Given the description of an element on the screen output the (x, y) to click on. 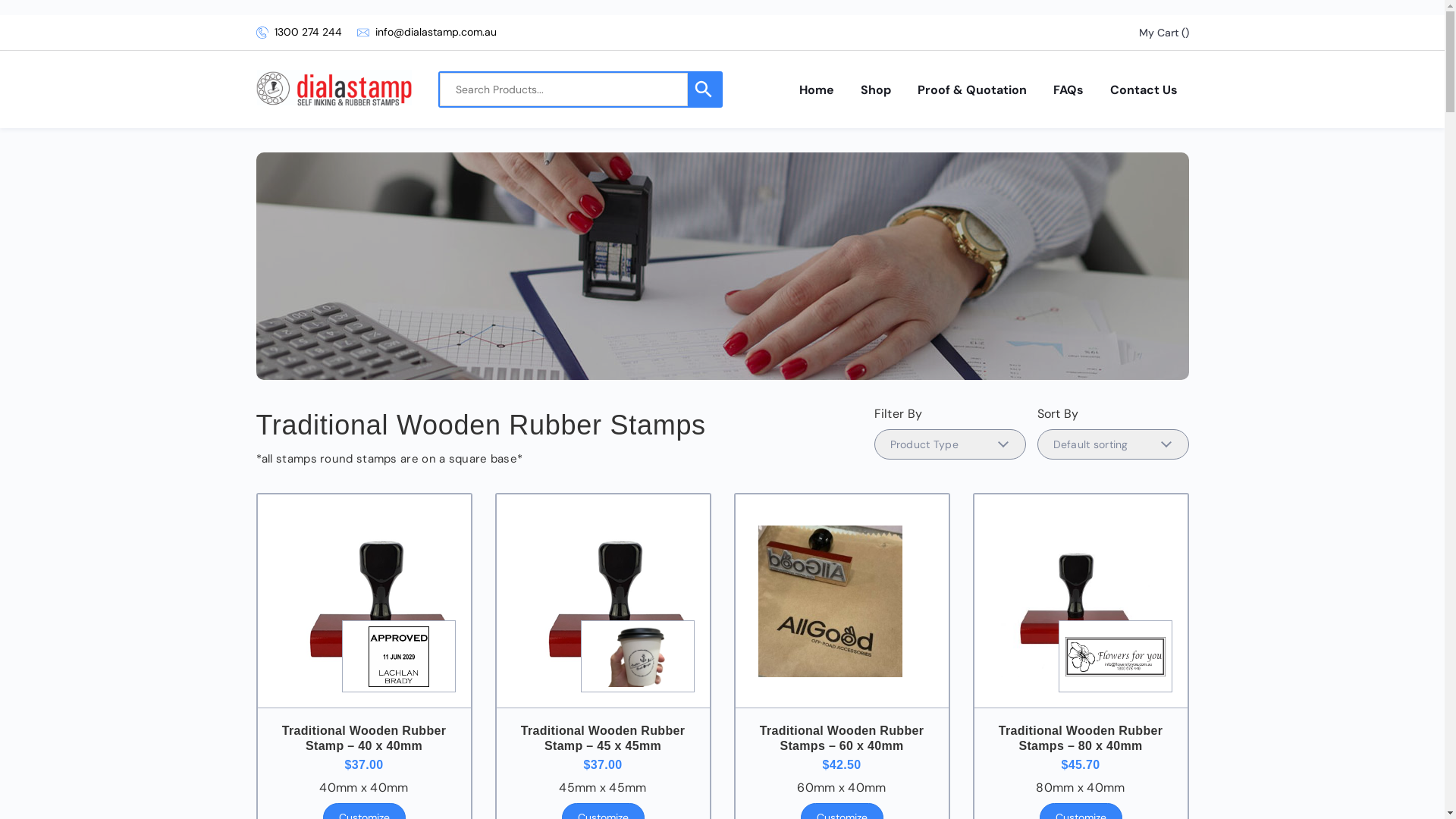
Proof & Quotation Element type: text (971, 89)
Home Element type: text (816, 89)
info@dialastamp.com.au Element type: text (425, 31)
coffeecup Element type: hover (636, 656)
traditional brown & black wooden rubber stamp Element type: hover (378, 600)
1300 274 244 Element type: hover (262, 32)
Dialastamp Element type: hover (333, 89)
Contact Us Element type: text (1143, 89)
info@dialastamp.com.au Element type: hover (362, 32)
My Cart Element type: text (1159, 32)
S542D Element type: hover (398, 656)
FAQs Element type: text (1067, 89)
1300 274 244 Element type: text (299, 31)
traditional brown & black wooden rubber stamp Element type: hover (616, 600)
Shop Element type: text (874, 89)
Untitled-3 Element type: hover (1114, 656)
IMG_1871 Element type: hover (830, 601)
woodstamp4 Element type: hover (1072, 601)
